Given the description of an element on the screen output the (x, y) to click on. 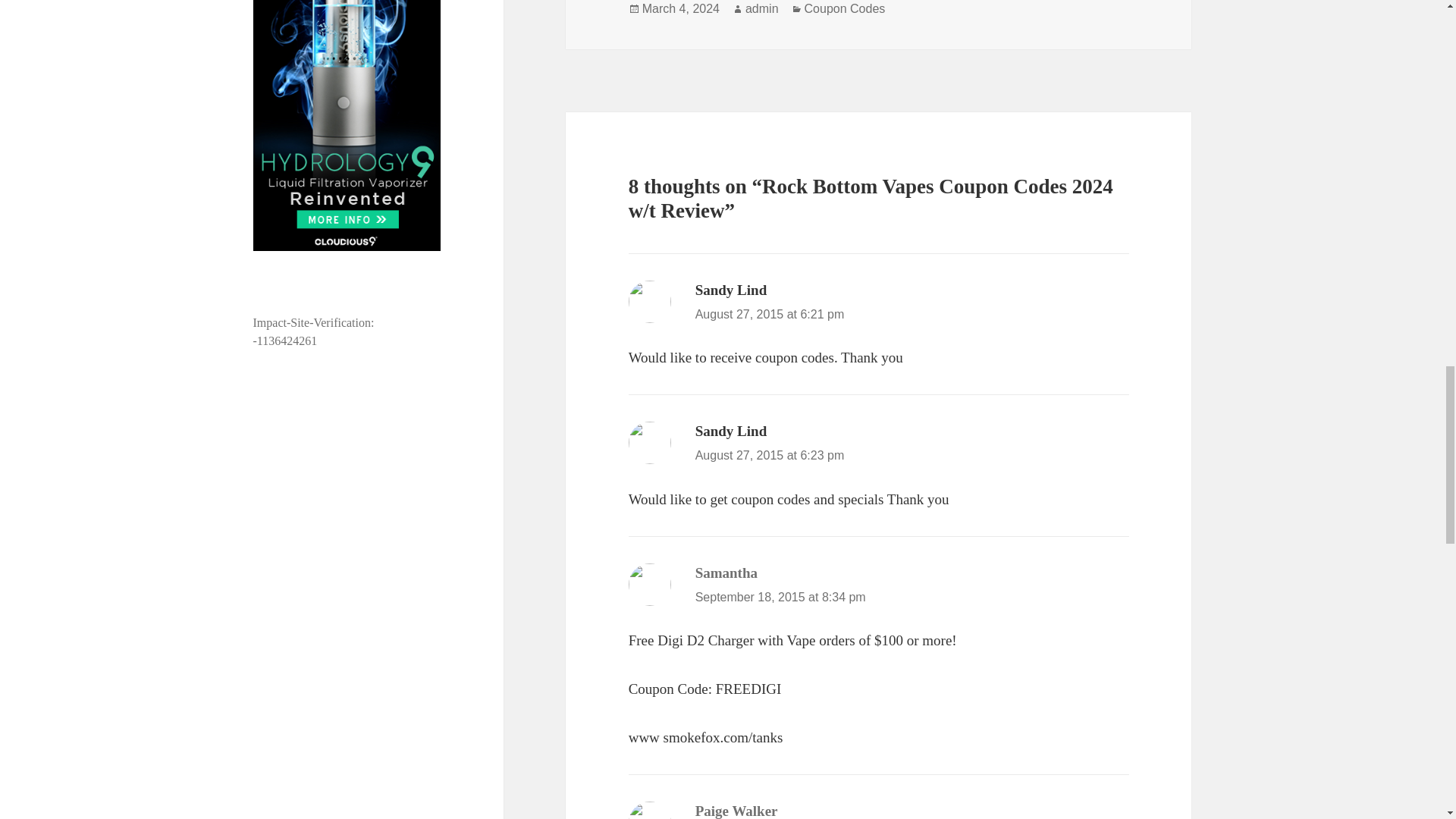
August 27, 2015 at 6:23 pm (769, 454)
Coupon Codes (845, 8)
March 4, 2024 (680, 8)
admin (761, 8)
September 18, 2015 at 8:34 pm (780, 596)
Sandy Lind (731, 289)
Sandy Lind (731, 430)
August 27, 2015 at 6:21 pm (769, 314)
